Given the description of an element on the screen output the (x, y) to click on. 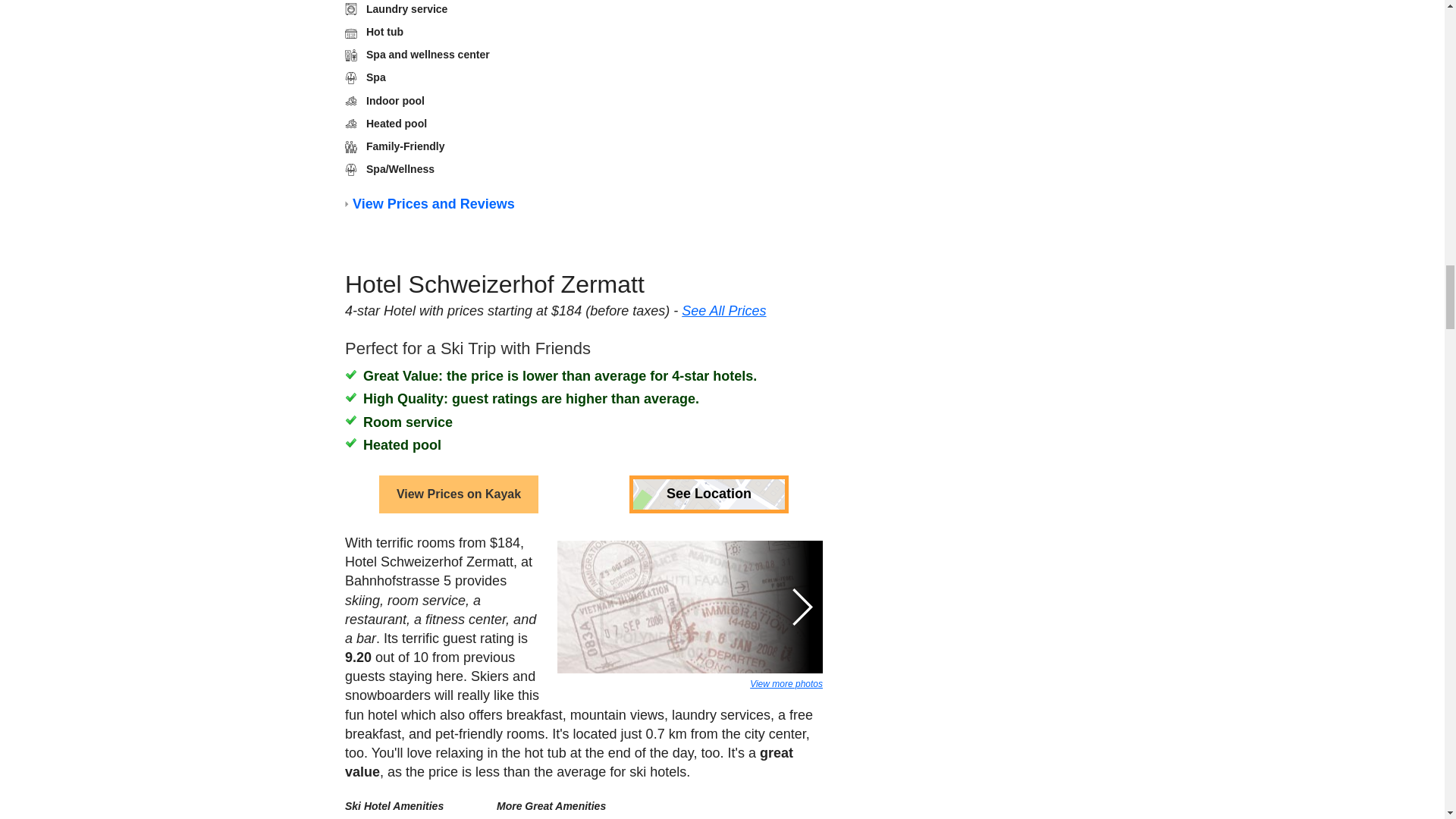
View more photos (785, 448)
See Location (708, 258)
Hotel Schweizerhof Zermatt (493, 93)
View Prices on Kayak (458, 258)
View Prices and Reviews (432, 208)
See All Prices (723, 92)
